Given the description of an element on the screen output the (x, y) to click on. 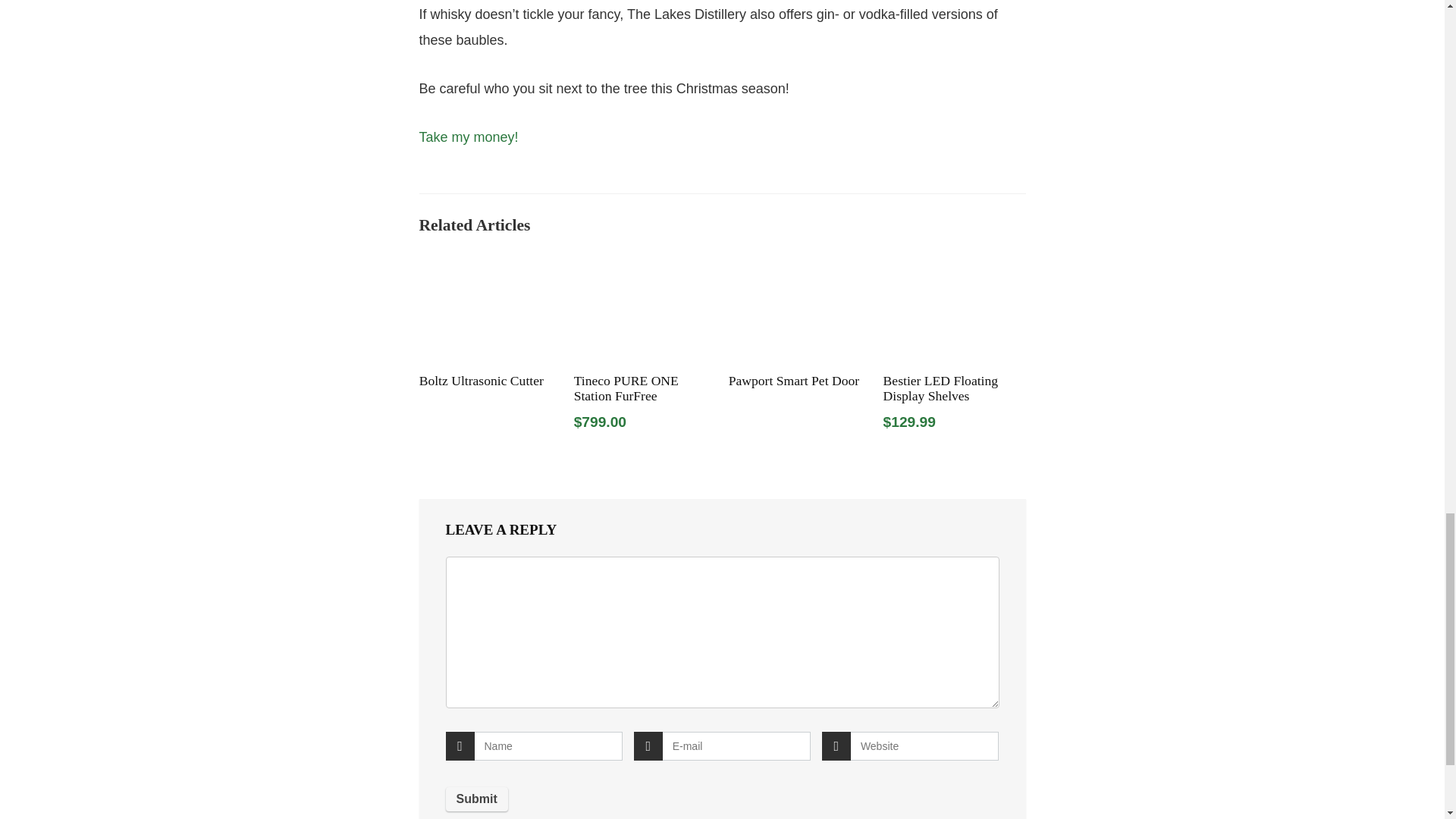
Submit (476, 799)
Take my money! (468, 136)
Boltz Ultrasonic Cutter (481, 380)
